Given the description of an element on the screen output the (x, y) to click on. 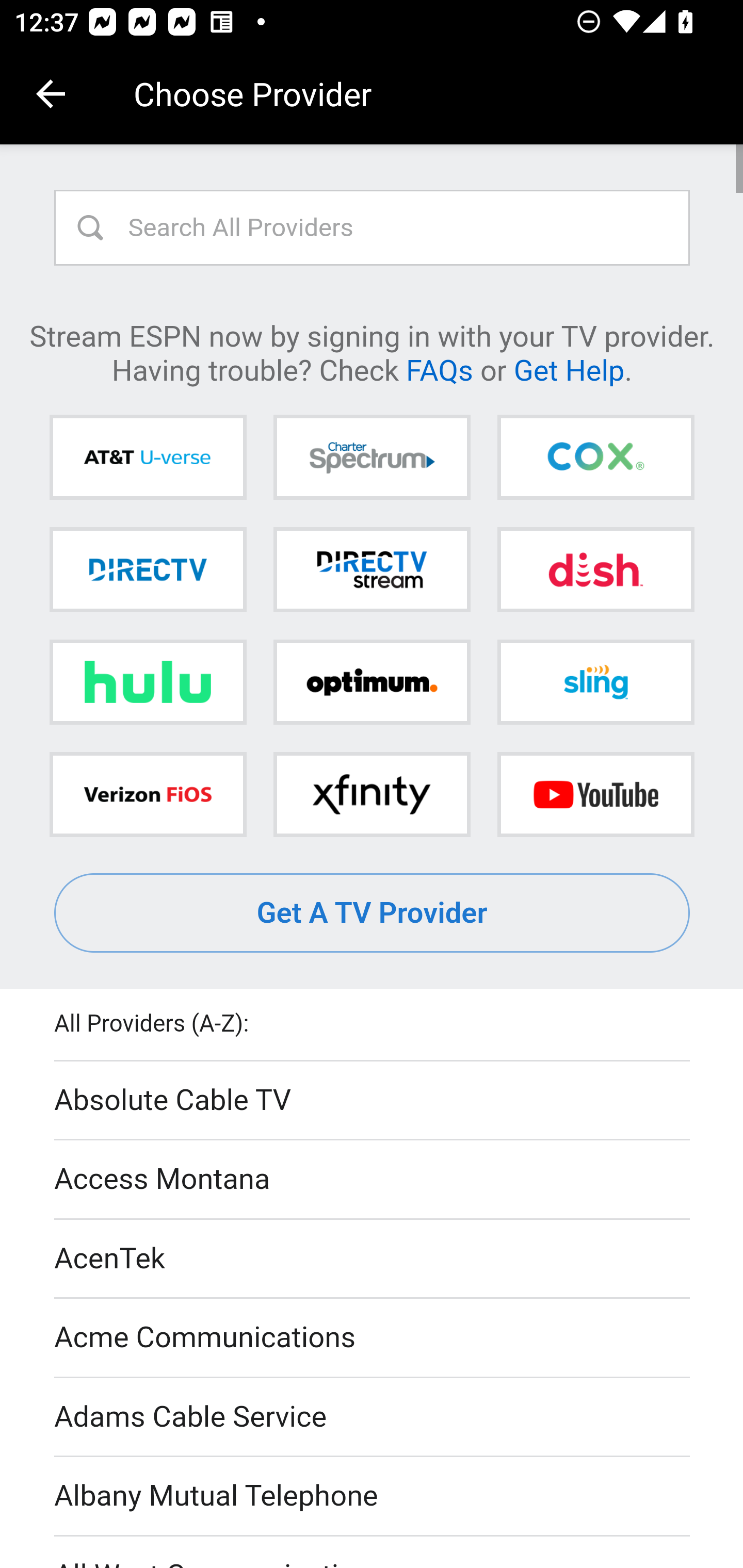
Navigate up (50, 93)
FAQs (438, 369)
Get Help (569, 369)
AT&T U-verse (147, 457)
Charter Spectrum (371, 457)
Cox (595, 457)
DIRECTV (147, 568)
DIRECTV STREAM (371, 568)
DISH (595, 568)
Hulu (147, 681)
Optimum (371, 681)
Sling TV (595, 681)
Verizon FiOS (147, 793)
Xfinity (371, 793)
YouTube TV (595, 793)
Get A TV Provider (372, 912)
Absolute Cable TV (372, 1100)
Access Montana (372, 1178)
AcenTek (372, 1258)
Acme Communications (372, 1338)
Adams Cable Service (372, 1417)
Albany Mutual Telephone (372, 1497)
